Given the description of an element on the screen output the (x, y) to click on. 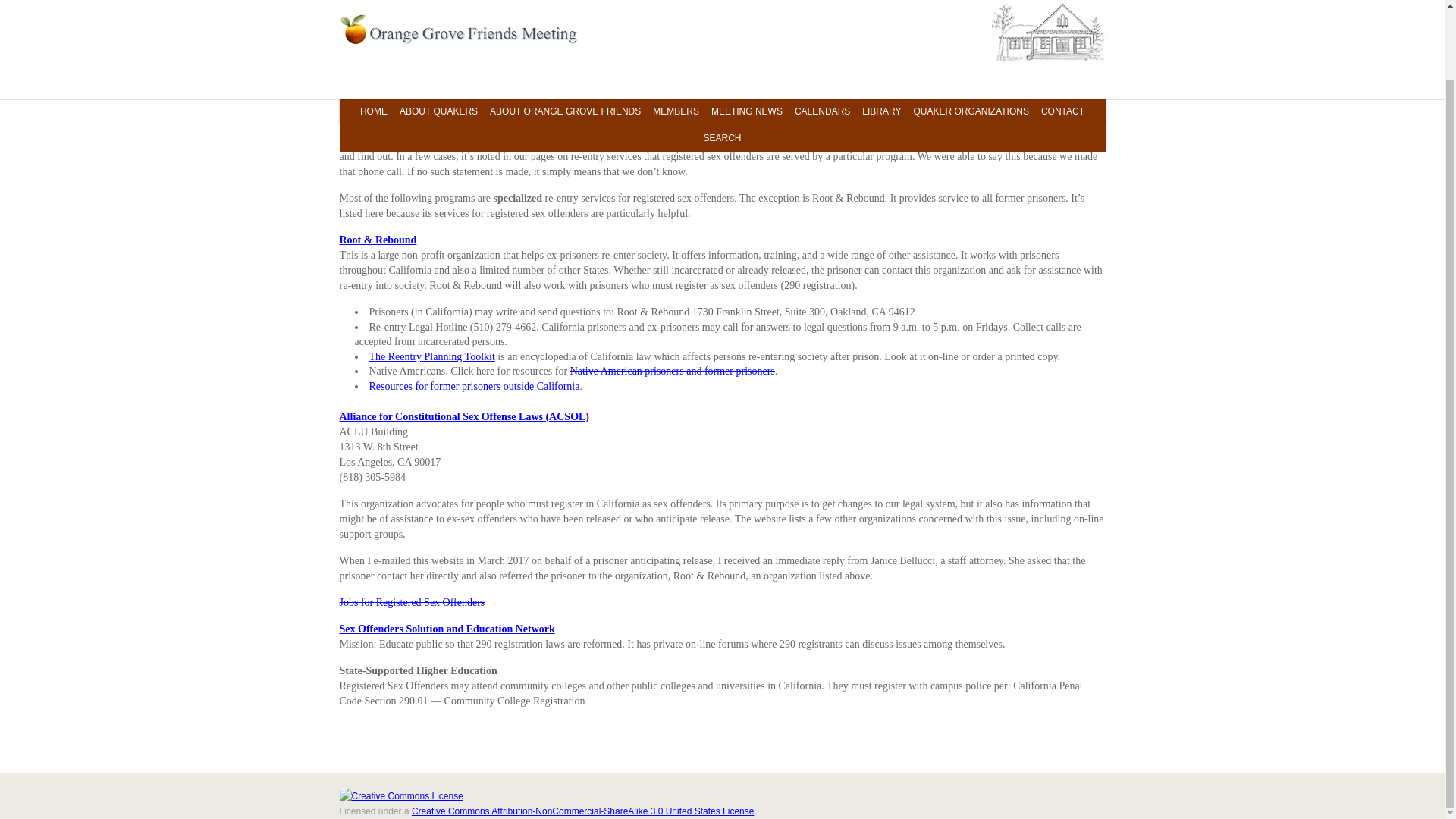
HOME (373, 33)
ABOUT ORANGE GROVE FRIENDS (564, 33)
MEMBERS (675, 33)
ABOUT QUAKERS (438, 33)
